Given the description of an element on the screen output the (x, y) to click on. 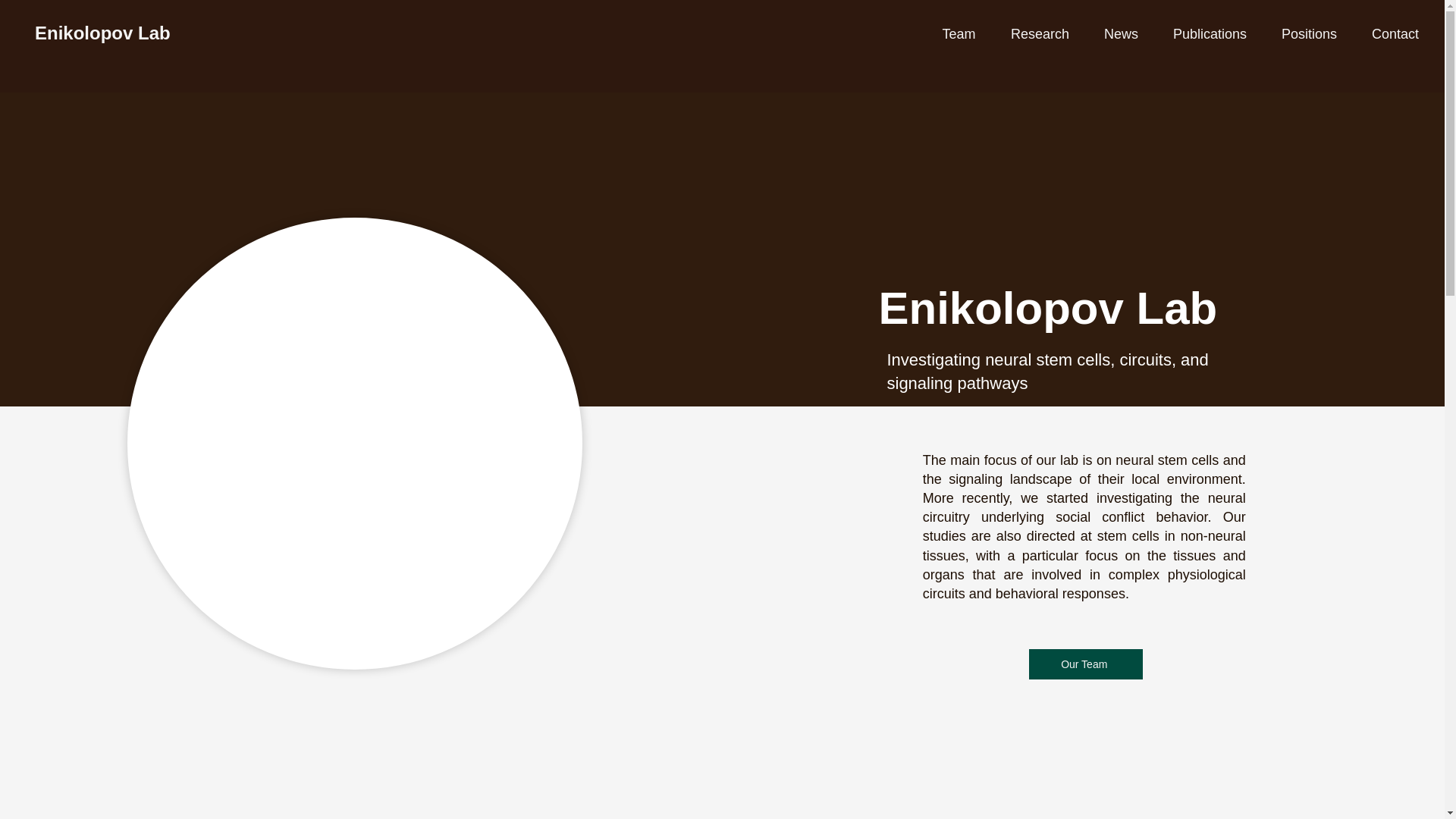
Publications (1209, 33)
Our Team (1085, 664)
Enikolopov Lab (102, 32)
News (1121, 33)
Team (958, 33)
Contact (1394, 33)
Positions (1308, 33)
Research (1039, 33)
